Given the description of an element on the screen output the (x, y) to click on. 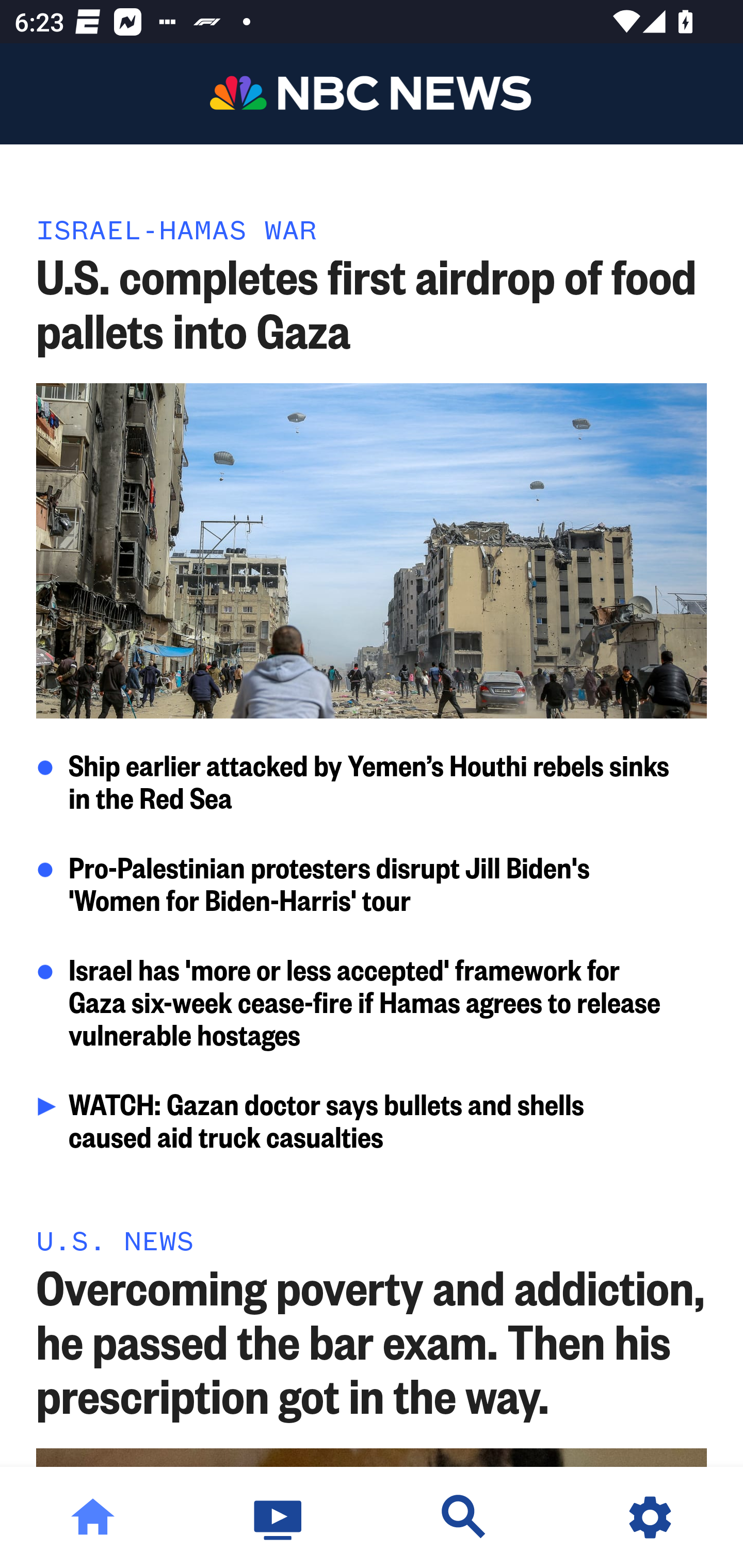
Watch (278, 1517)
Discover (464, 1517)
Settings (650, 1517)
